Given the description of an element on the screen output the (x, y) to click on. 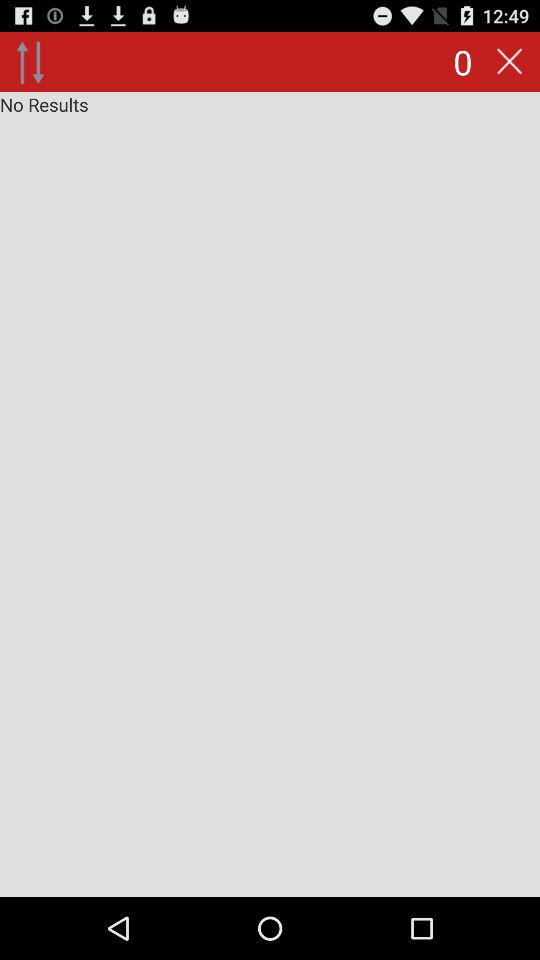
results found (270, 494)
